Given the description of an element on the screen output the (x, y) to click on. 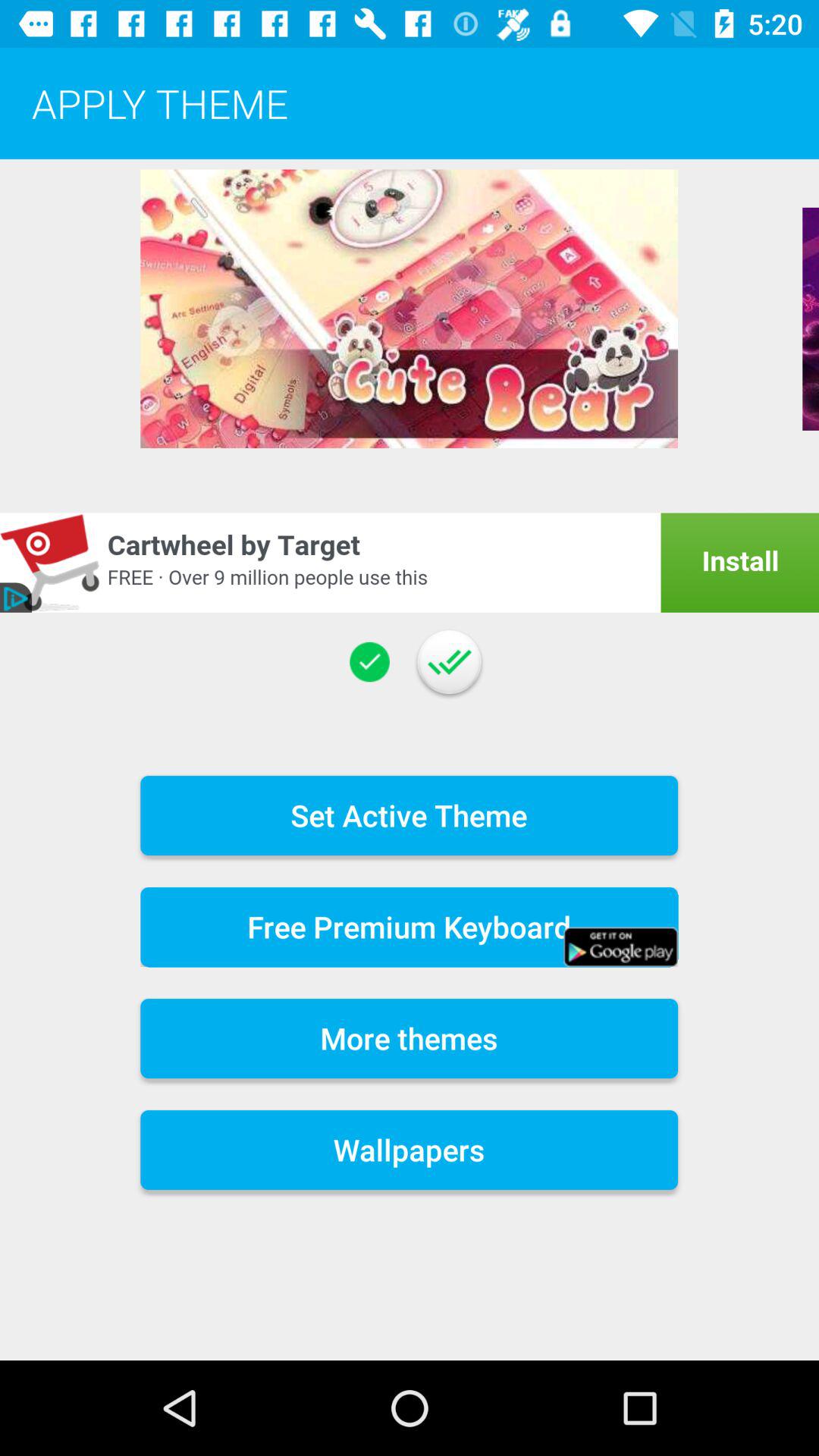
flip until free premium keyboard (408, 926)
